Given the description of an element on the screen output the (x, y) to click on. 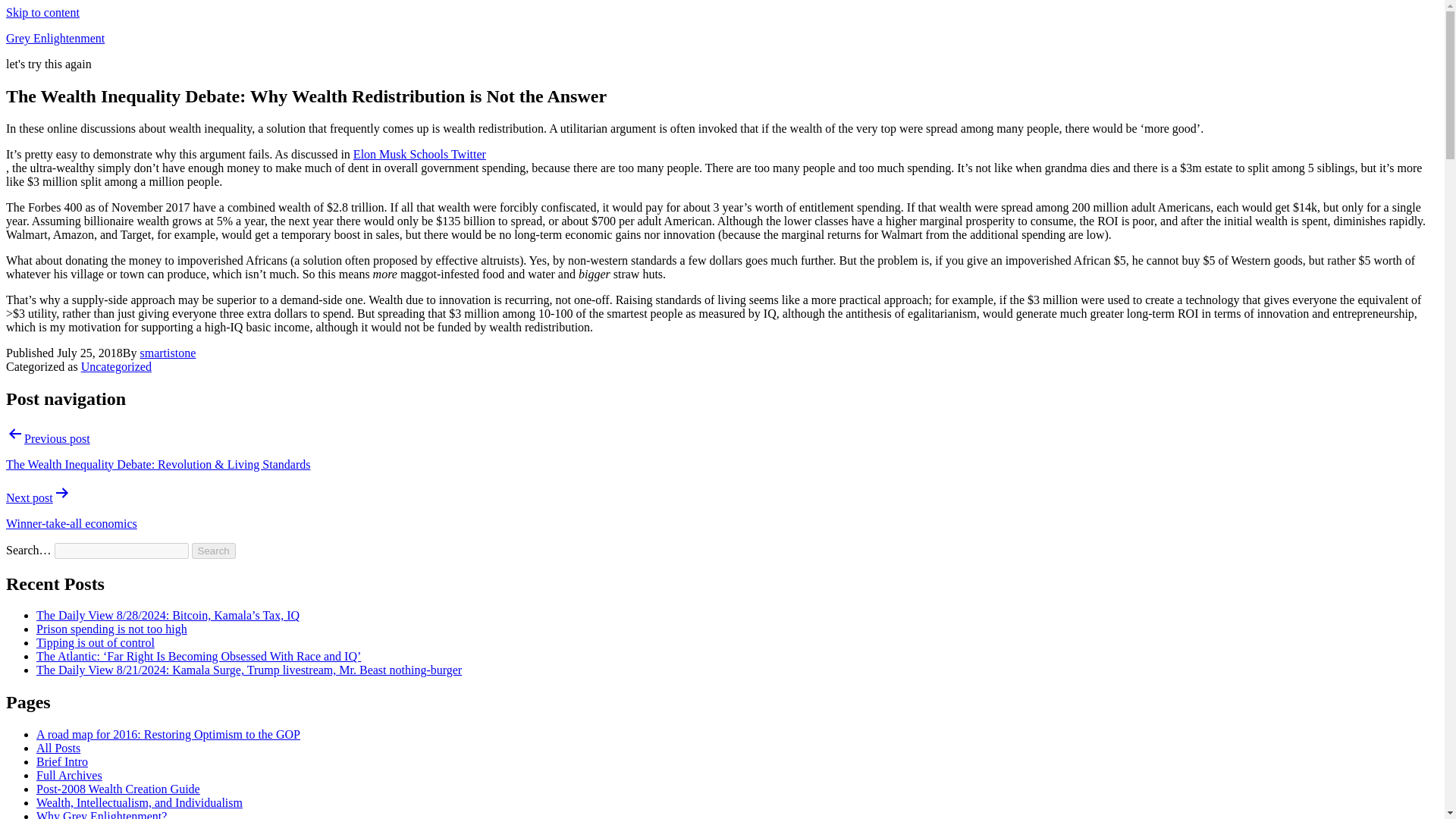
Wealth, Intellectualism, and Individualism (139, 802)
smartistone (167, 352)
Uncategorized (116, 366)
Why Grey Enlightenment? (101, 814)
Post-2008 Wealth Creation Guide (118, 788)
Brief Intro (61, 761)
Elon Musk Schools Twitter (419, 154)
Search (213, 550)
Full Archives (68, 775)
Tipping is out of control (95, 642)
